Given the description of an element on the screen output the (x, y) to click on. 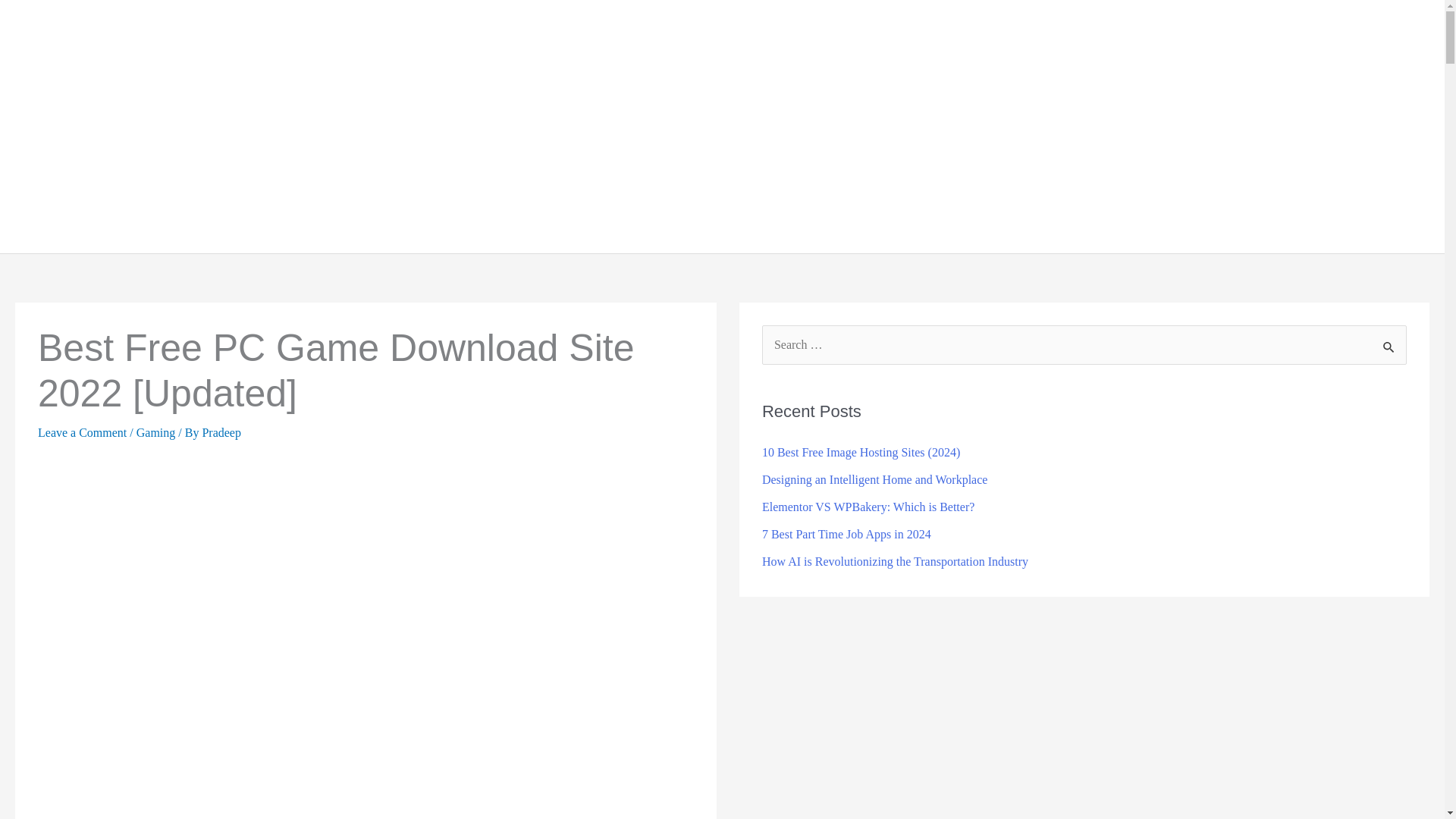
Contact us (1383, 126)
View all posts by Pradeep (221, 431)
Review (1308, 126)
Gaming (1145, 126)
Guide (1079, 126)
Technology (997, 126)
Cryptocurrency (1226, 126)
